Given the description of an element on the screen output the (x, y) to click on. 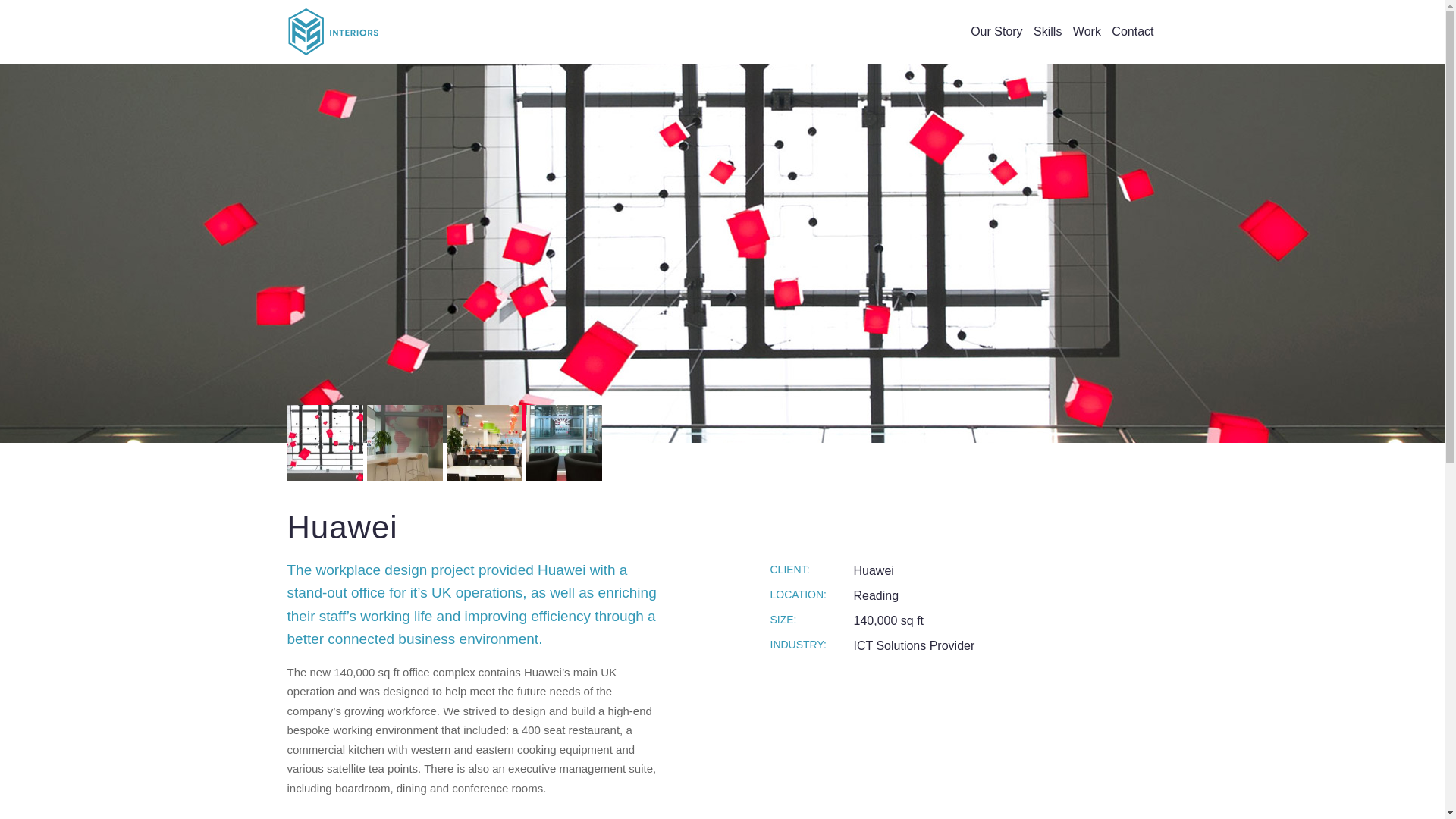
Contact (1132, 43)
Skills (1047, 43)
Our Story (996, 43)
Work (1086, 43)
